Given the description of an element on the screen output the (x, y) to click on. 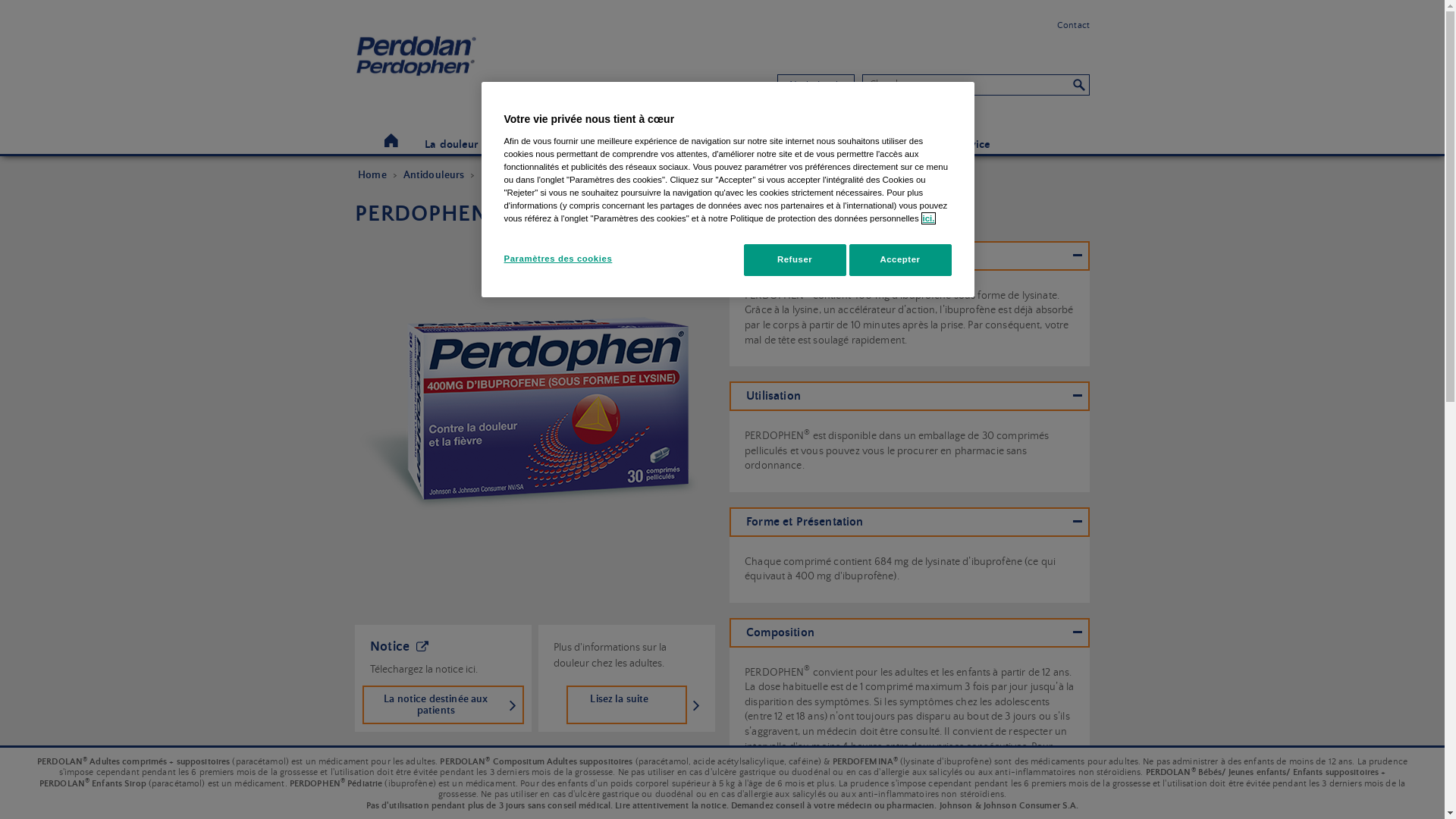
Utilisation Element type: text (909, 396)
Contact Element type: text (1073, 25)
ici. Element type: text (928, 217)
Antidouleurs Element type: text (433, 175)
Perdophen  Element type: hover (528, 405)
Skip to main content Element type: text (51, 0)
Antidouleurs Element type: text (785, 144)
Enter the terms you wish to search for. Element type: hover (965, 84)
Antidouleurs pour adultes Element type: text (543, 175)
Refuser Element type: text (794, 260)
Notice
Open link in new window Element type: text (399, 646)
Lisez la suite Element type: text (626, 704)
Composition Element type: text (909, 632)
Home Element type: text (391, 140)
Home Element type: hover (464, 63)
Les substances actives Element type: text (884, 144)
Informations sur le produit Element type: text (909, 255)
Rechercher Element type: text (1078, 84)
Home Element type: text (371, 175)
Accepter Element type: text (900, 260)
Service Element type: text (971, 144)
La douleur chez les adultes Element type: text (492, 144)
